Given the description of an element on the screen output the (x, y) to click on. 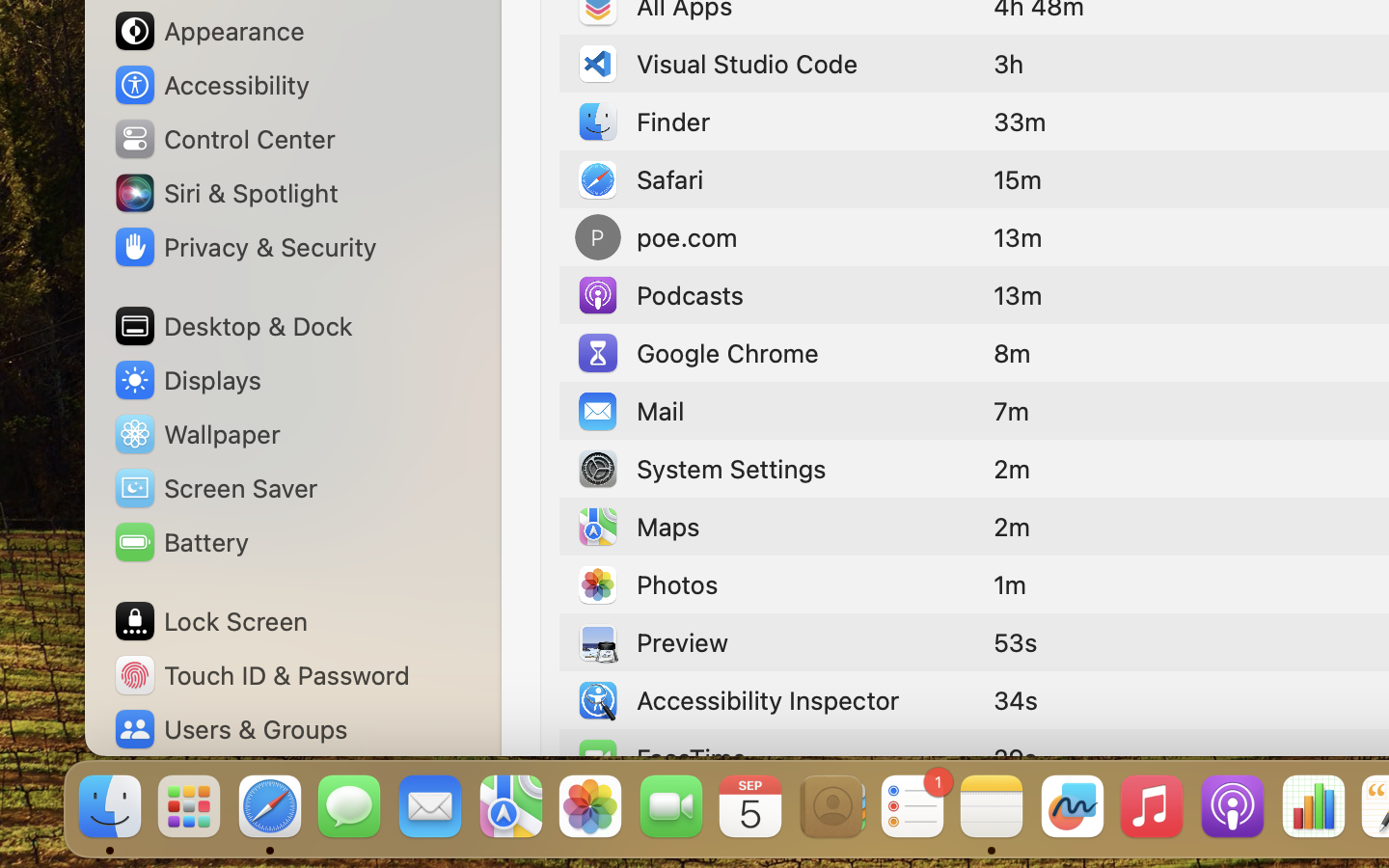
Users & Groups Element type: AXStaticText (229, 728)
Lock Screen Element type: AXStaticText (209, 620)
System Settings Element type: AXStaticText (699, 468)
1m Element type: AXStaticText (1009, 584)
Appearance Element type: AXStaticText (207, 30)
